Given the description of an element on the screen output the (x, y) to click on. 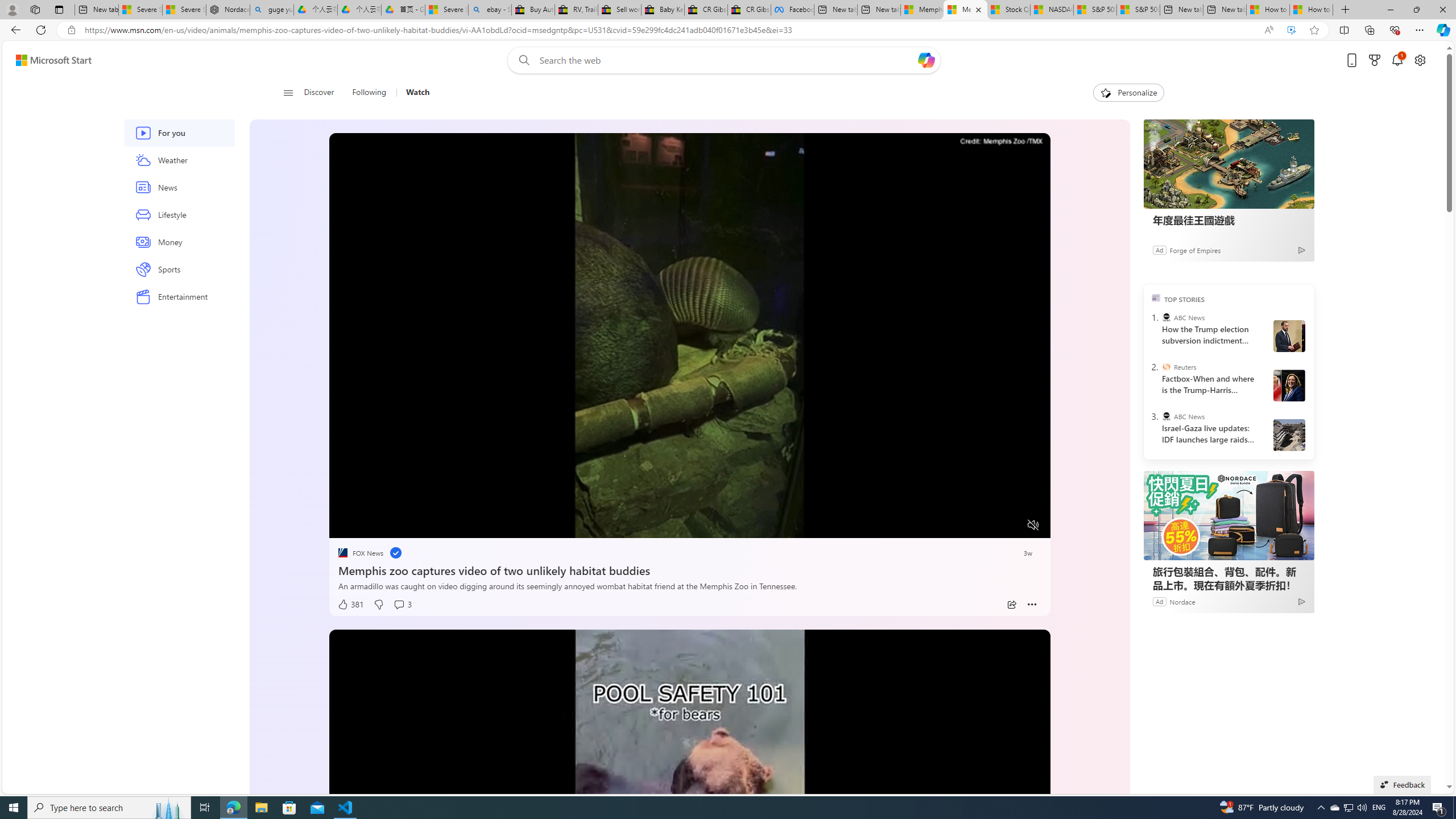
Watch (412, 92)
Sell worldwide with eBay (619, 9)
guge yunpan - Search (271, 9)
ABC News (1165, 415)
View comments 3 Comment (402, 604)
